Given the description of an element on the screen output the (x, y) to click on. 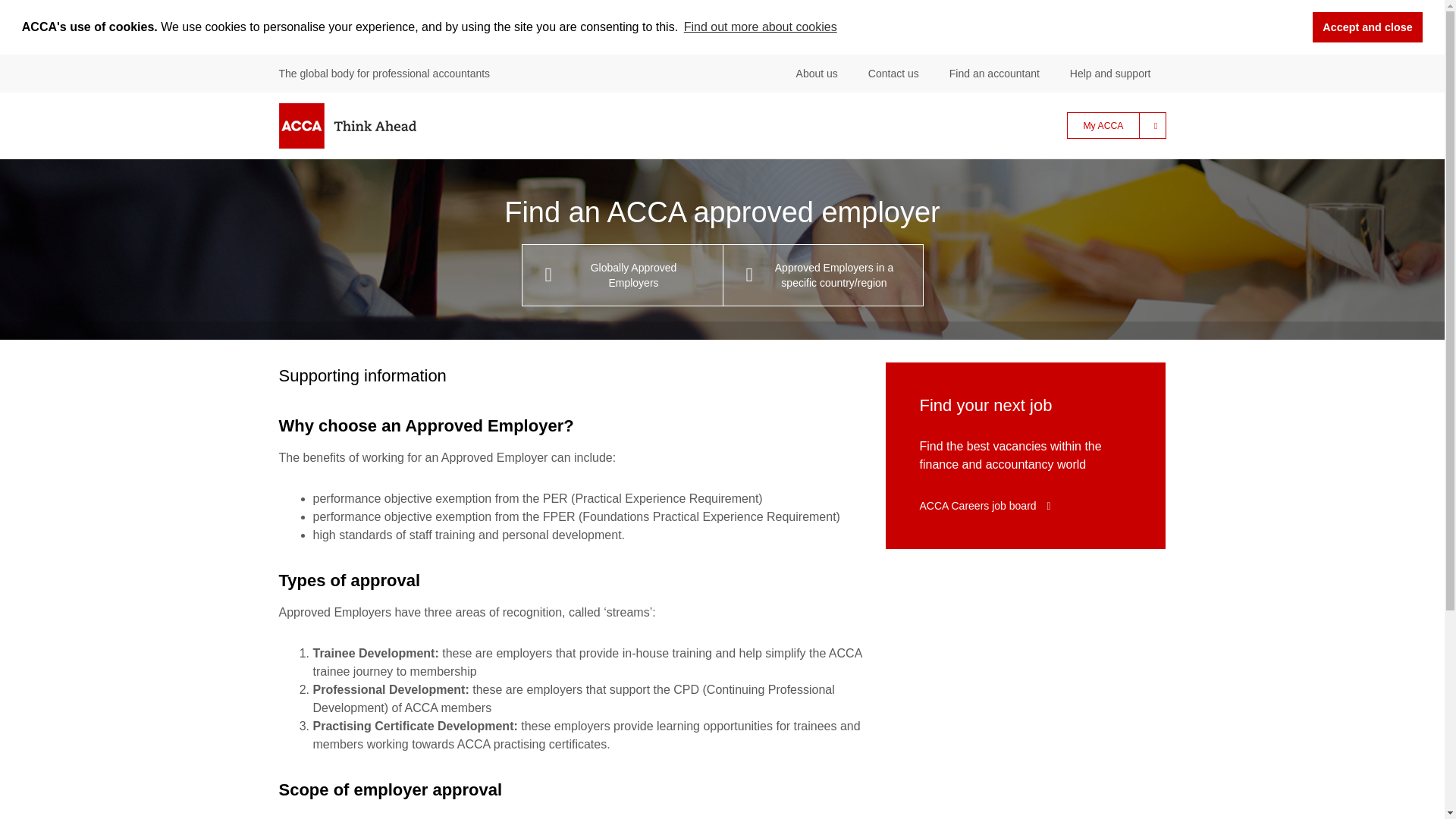
Find out more about cookies (760, 26)
About us (817, 72)
ACCA - Think Ahead (347, 125)
My ACCA (1116, 125)
Accept and close (1367, 27)
Help and support (1110, 72)
Find an accountant (994, 72)
ACCA Careers job board (983, 504)
Globally Approved Employers (621, 274)
Contact us (892, 72)
